Given the description of an element on the screen output the (x, y) to click on. 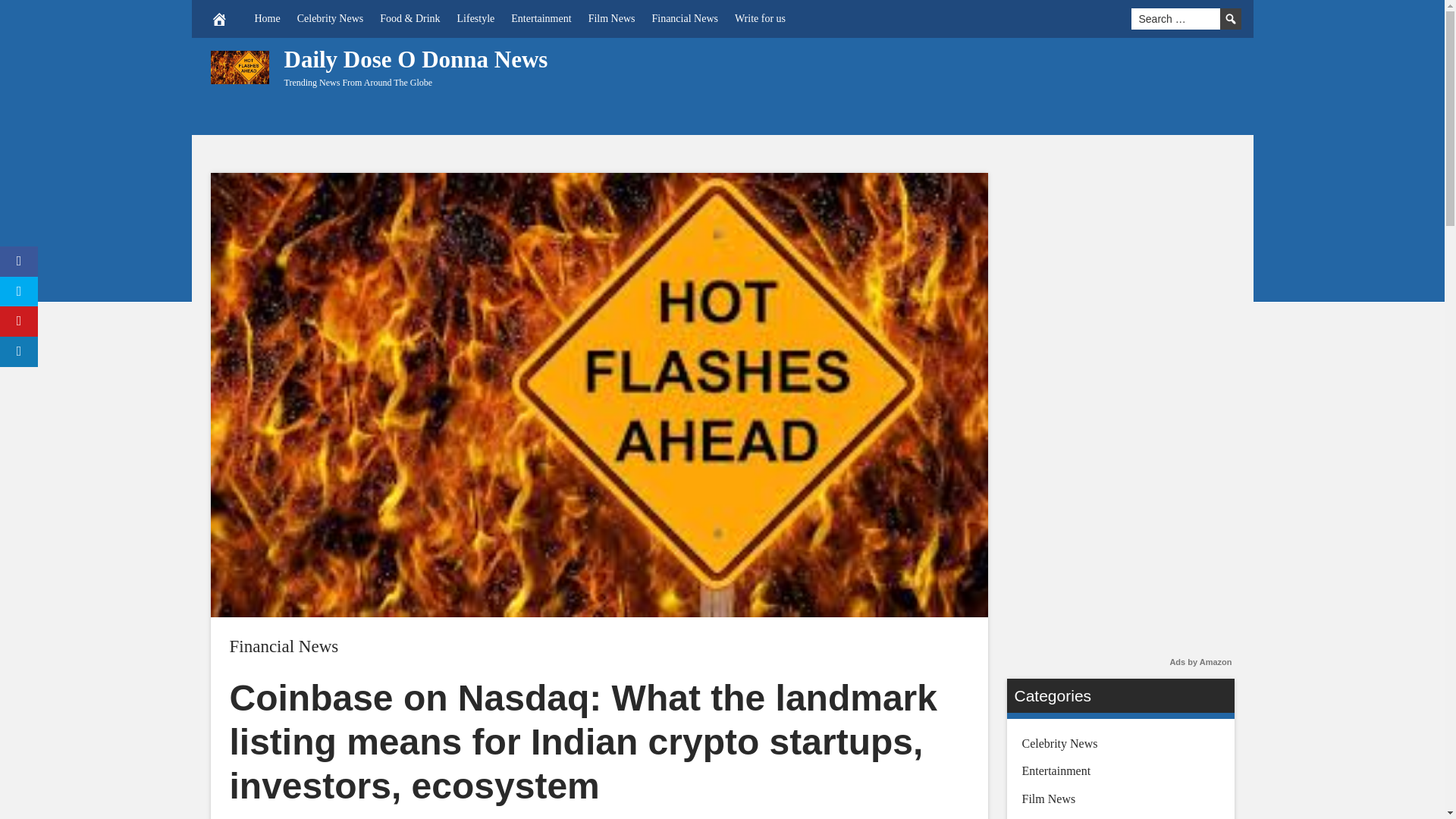
Film News (611, 18)
Home (267, 18)
Entertainment (540, 18)
Daily Dose O Donna News (415, 58)
Financial News (282, 646)
Financial News (684, 18)
Write for us (759, 18)
Lifestyle (475, 18)
Financial News (282, 646)
Celebrity News (329, 18)
